Given the description of an element on the screen output the (x, y) to click on. 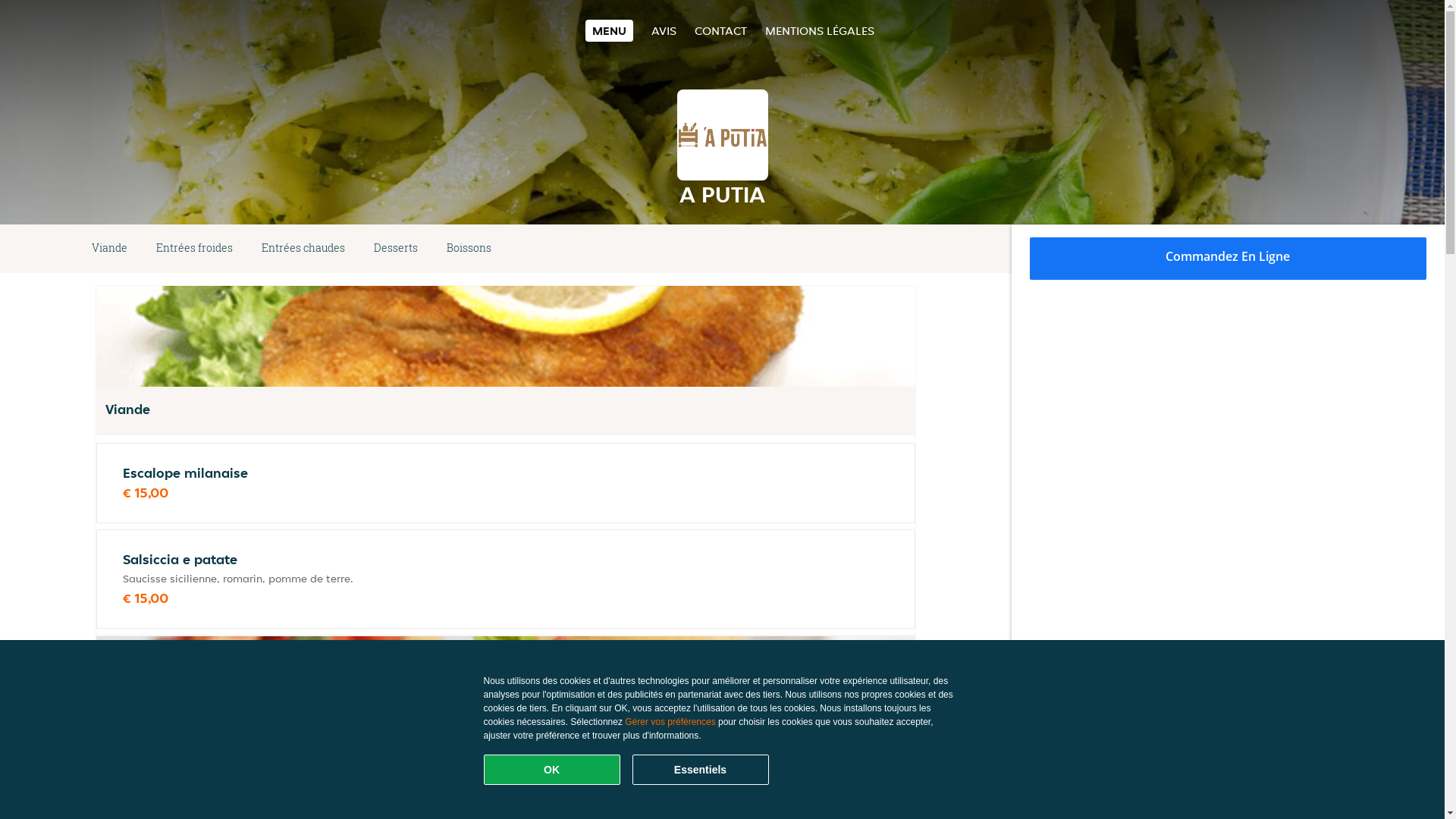
MENU Element type: text (609, 30)
Viande Element type: text (109, 248)
Essentiels Element type: text (700, 769)
OK Element type: text (551, 769)
Boissons Element type: text (468, 248)
Commandez En Ligne Element type: text (1228, 258)
Desserts Element type: text (395, 248)
CONTACT Element type: text (720, 30)
AVIS Element type: text (663, 30)
